Given the description of an element on the screen output the (x, y) to click on. 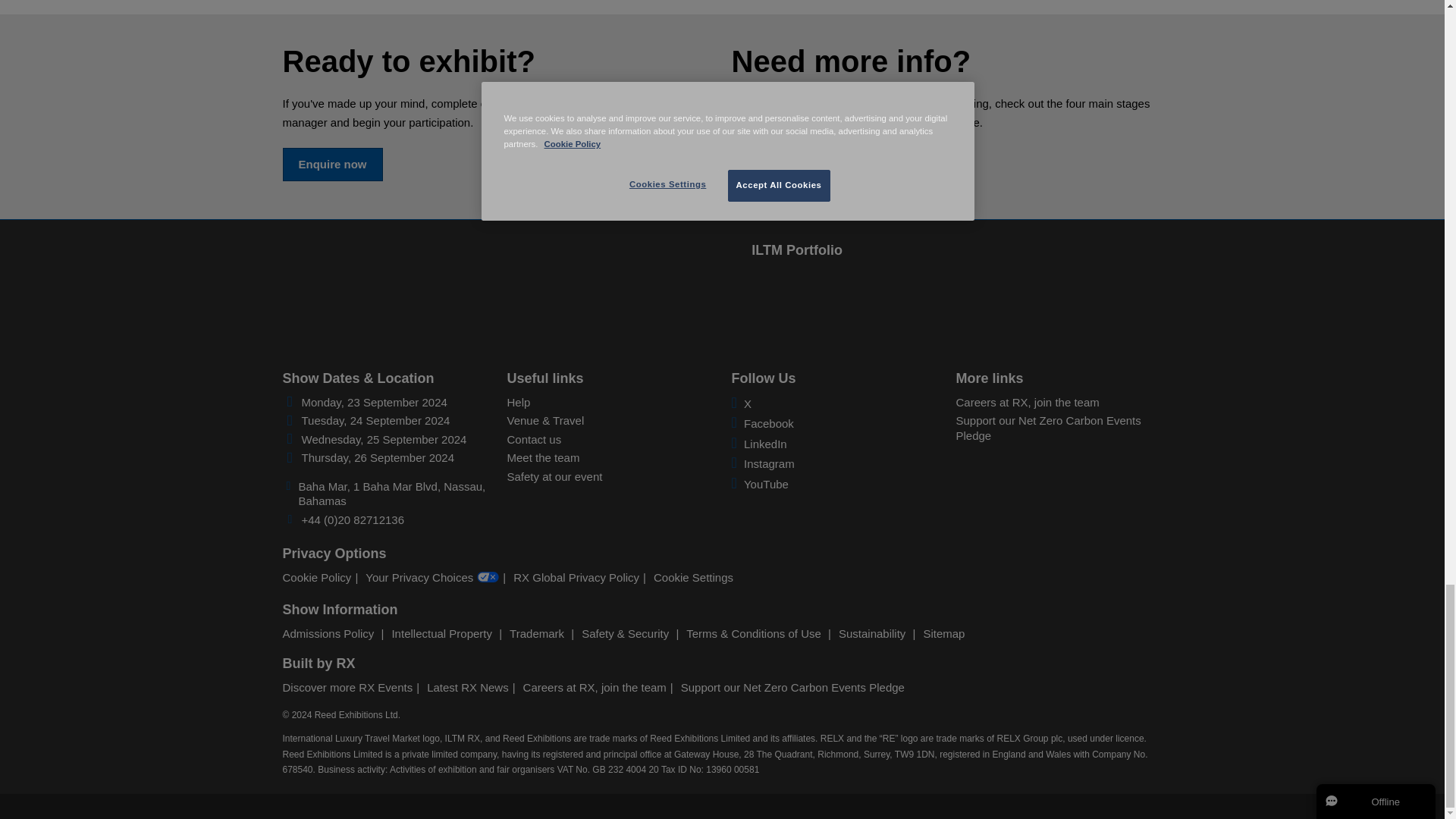
Enquire now (331, 164)
